Given the description of an element on the screen output the (x, y) to click on. 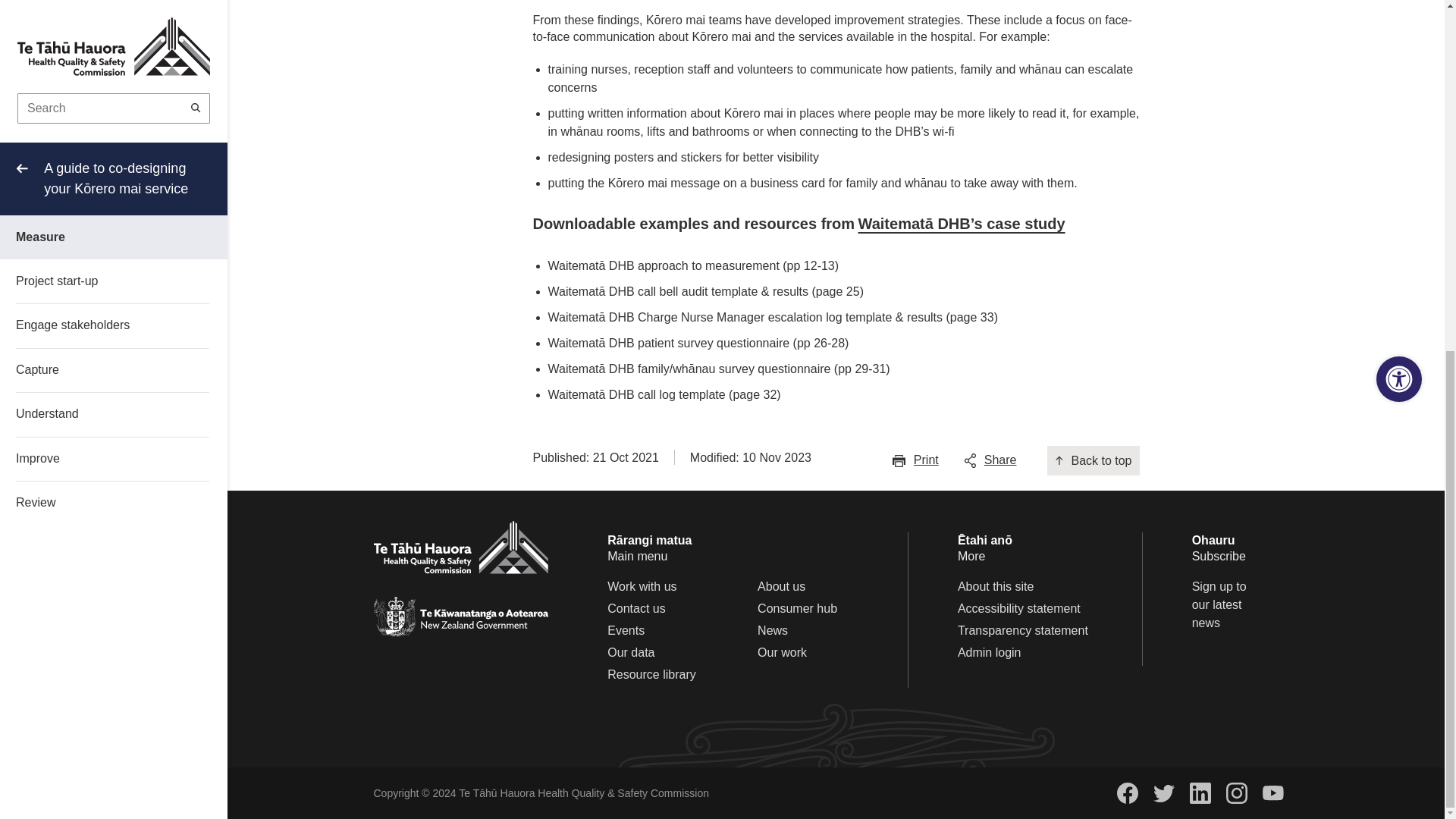
New Zealand Government (459, 616)
Instagram page (1235, 792)
Youtube page (1272, 792)
Twitter page (1163, 793)
Facebook page (1126, 792)
LinkedIn page (1199, 792)
